Given the description of an element on the screen output the (x, y) to click on. 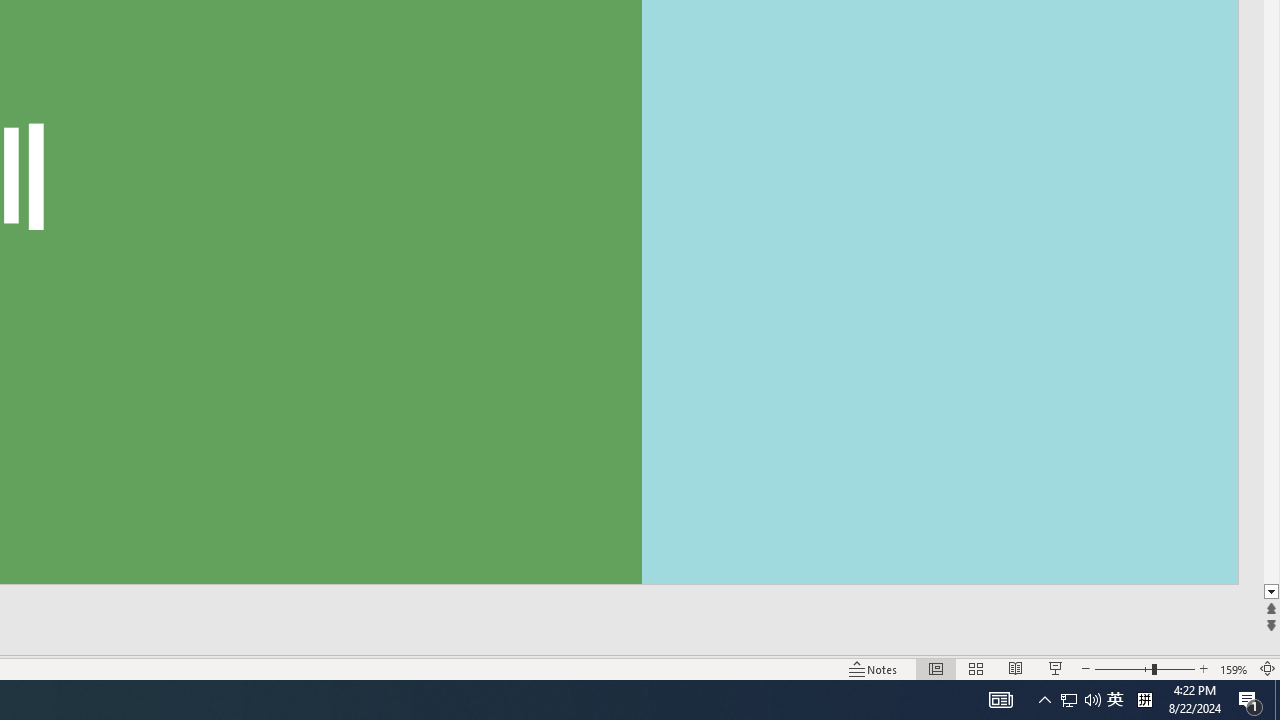
Zoom 159% (1234, 668)
